Given the description of an element on the screen output the (x, y) to click on. 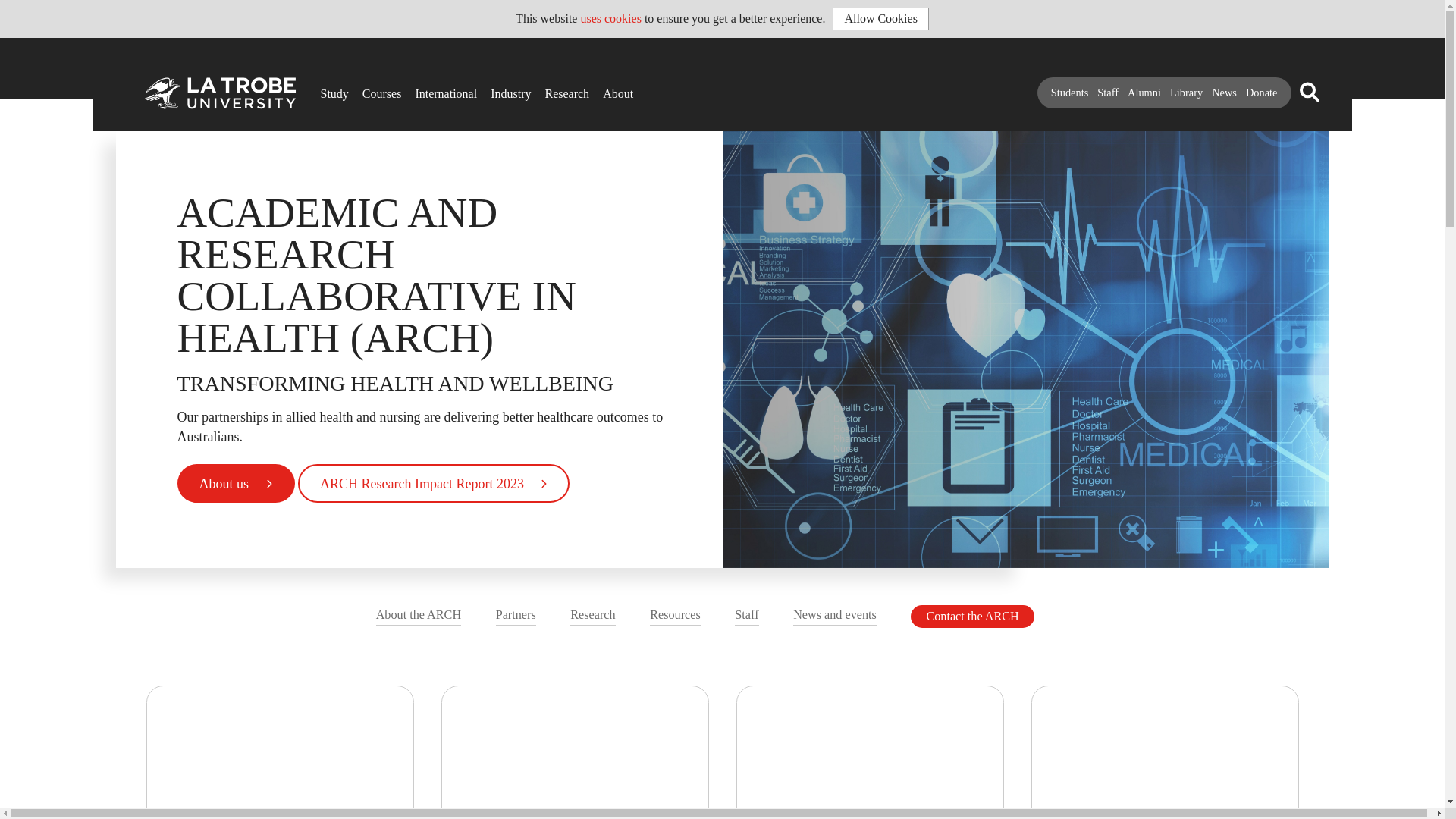
International students (419, 88)
Donate (1262, 92)
About (607, 88)
About (607, 88)
Industry and Community (495, 88)
News (1223, 92)
Students (1070, 92)
Courses (367, 88)
Study with us (325, 88)
International students (419, 88)
